Given the description of an element on the screen output the (x, y) to click on. 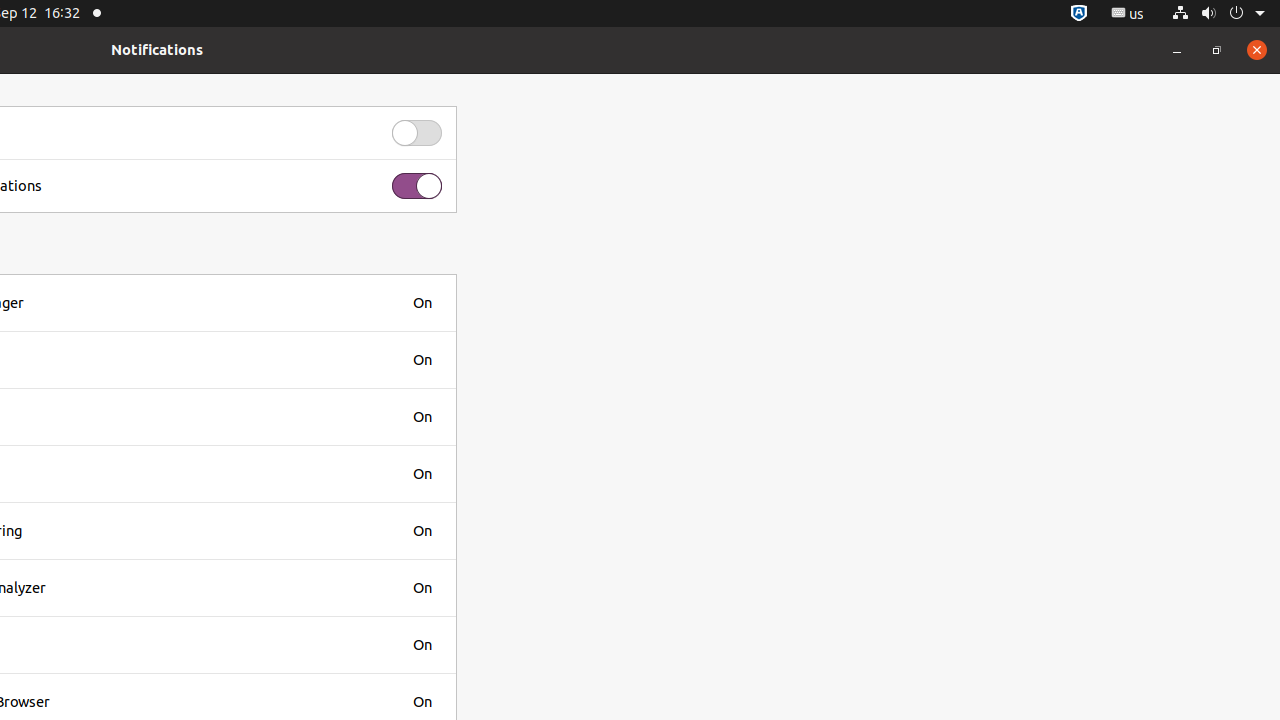
On Element type: label (422, 302)
Close Element type: push-button (1257, 50)
